Given the description of an element on the screen output the (x, y) to click on. 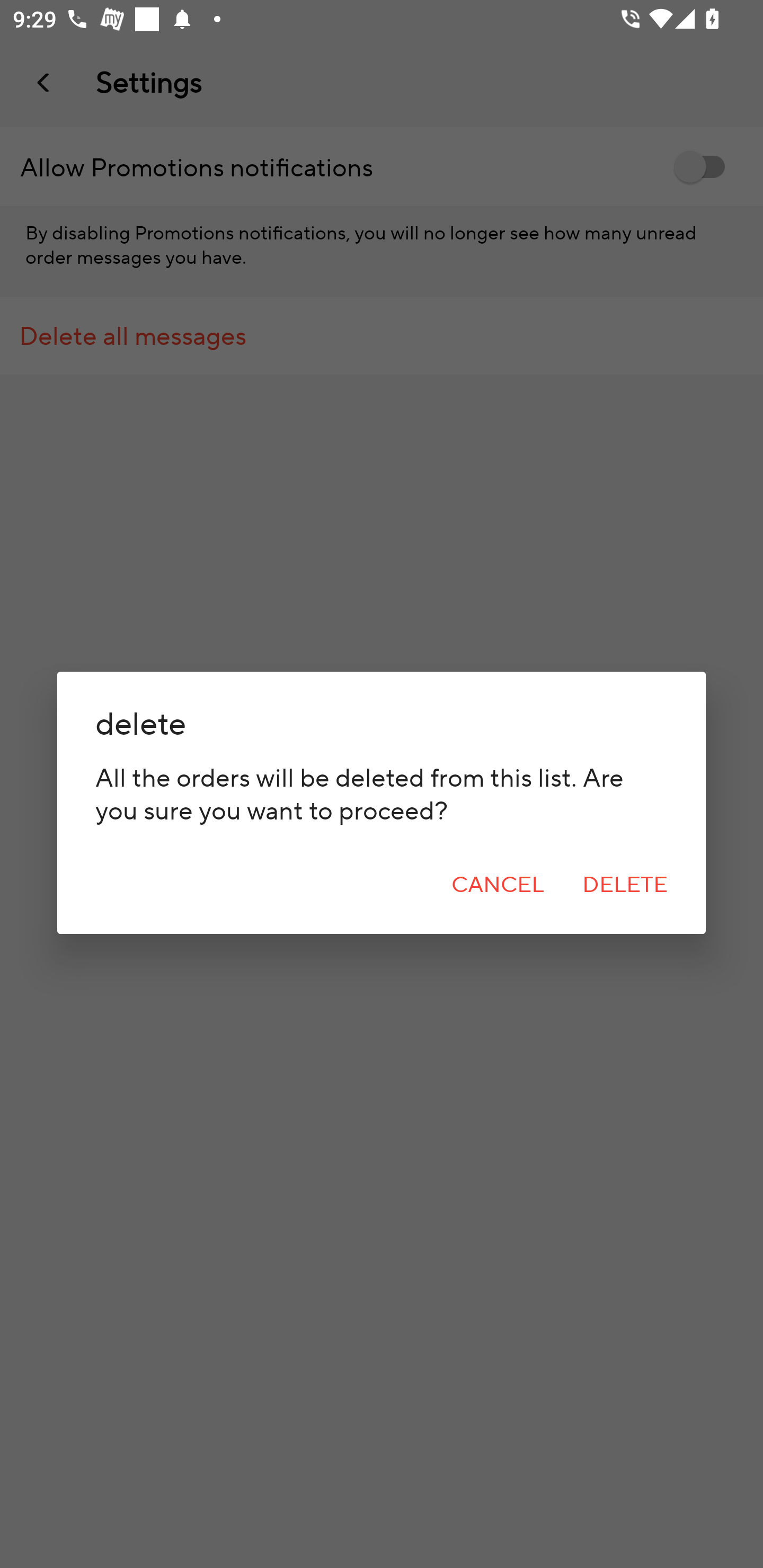
CANCEL (497, 885)
DELETE (624, 885)
